Given the description of an element on the screen output the (x, y) to click on. 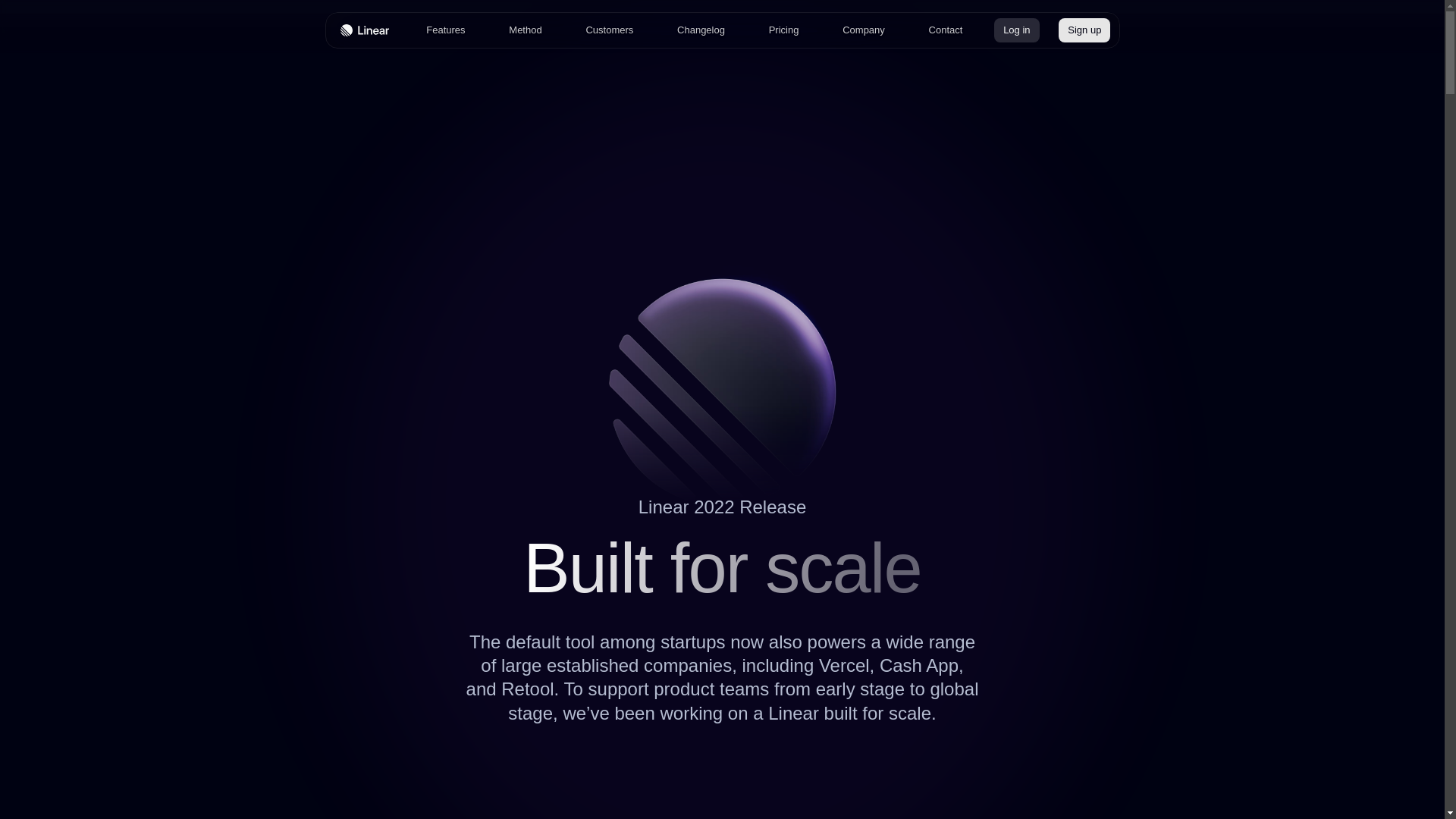
Company (862, 30)
Customers (609, 30)
Changelog (700, 30)
Sign up (1083, 30)
Pricing (783, 30)
Features (445, 30)
Contact (946, 30)
Log in (1016, 30)
Method (524, 30)
